Given the description of an element on the screen output the (x, y) to click on. 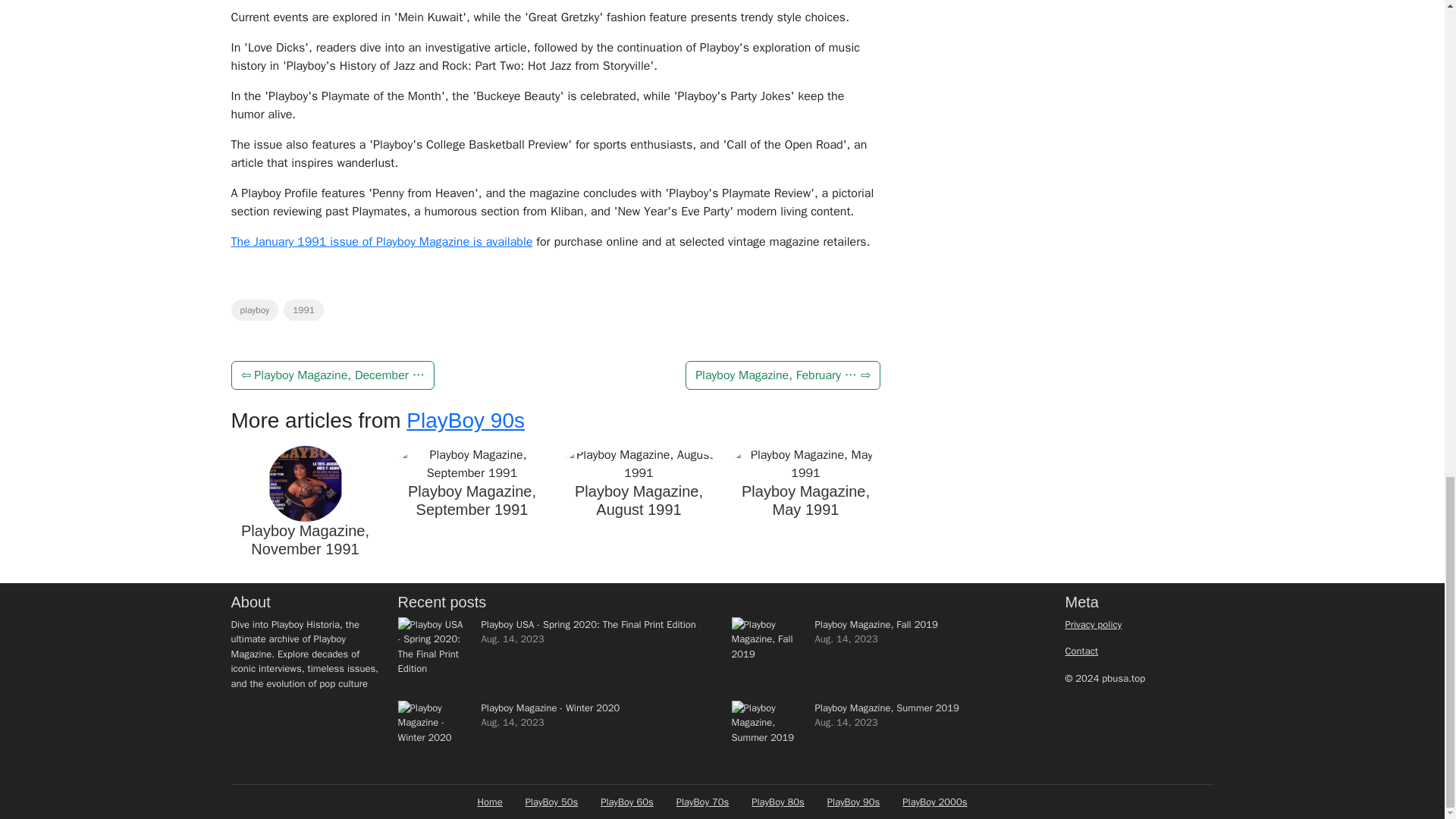
Playboy Magazine, November 1991 (305, 539)
PlayBoy 90s (465, 420)
playboy (254, 310)
1991 (303, 310)
The January 1991 issue of Playboy Magazine is available (381, 241)
Playboy Magazine, September 1991 (471, 500)
Playboy Magazine, August 1991 (639, 500)
Playboy Magazine, May 1991 (805, 500)
